Given the description of an element on the screen output the (x, y) to click on. 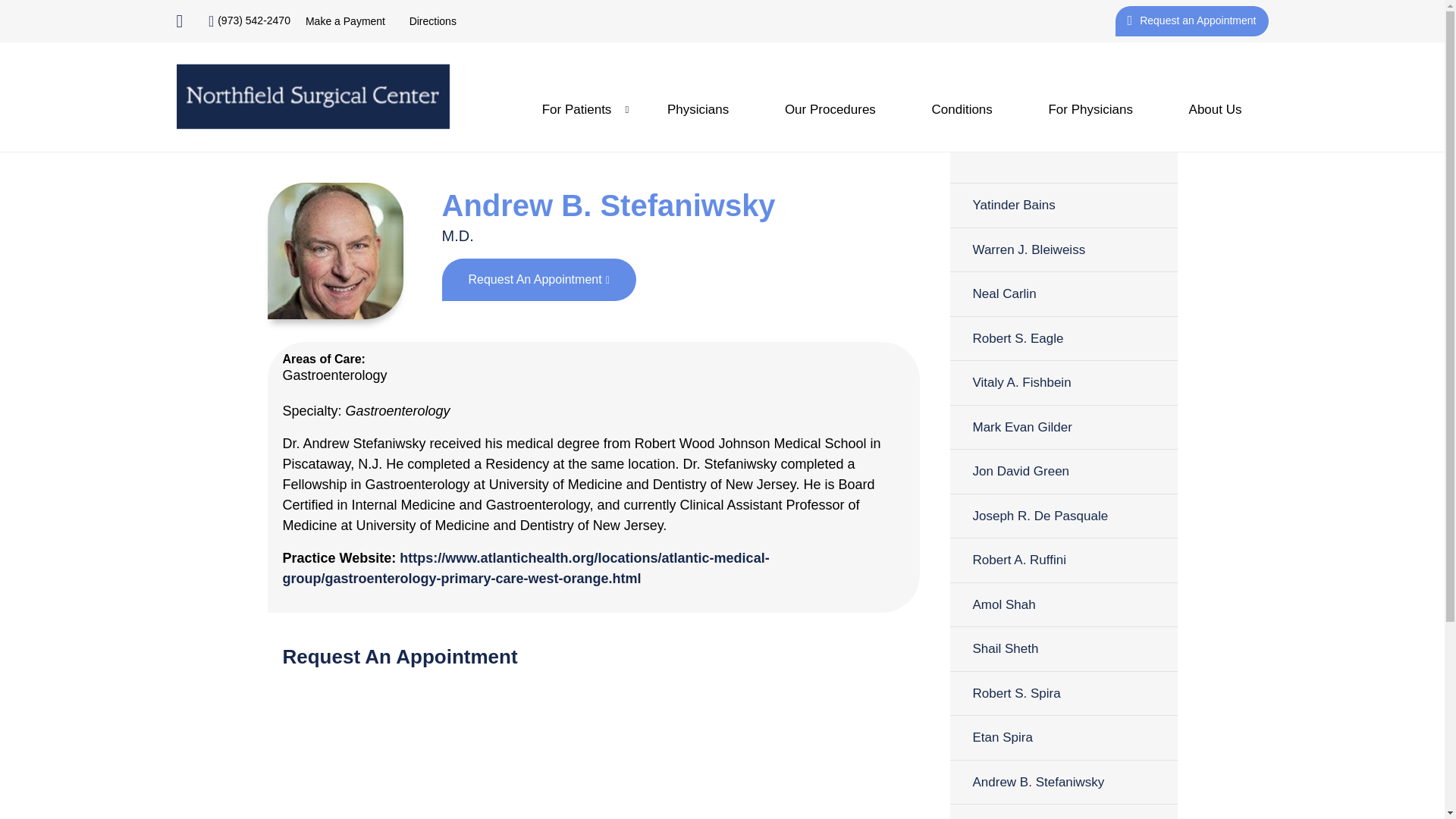
Yatinder Bains (1062, 204)
Directions (433, 21)
Request An Appointment (537, 279)
About Us (1215, 109)
Conditions (961, 109)
Neal Carlin (1062, 293)
Make a Payment (345, 21)
Our Procedures (830, 109)
Vitaly A. Fishbein (1062, 382)
Request an Appointment (1191, 20)
